Given the description of an element on the screen output the (x, y) to click on. 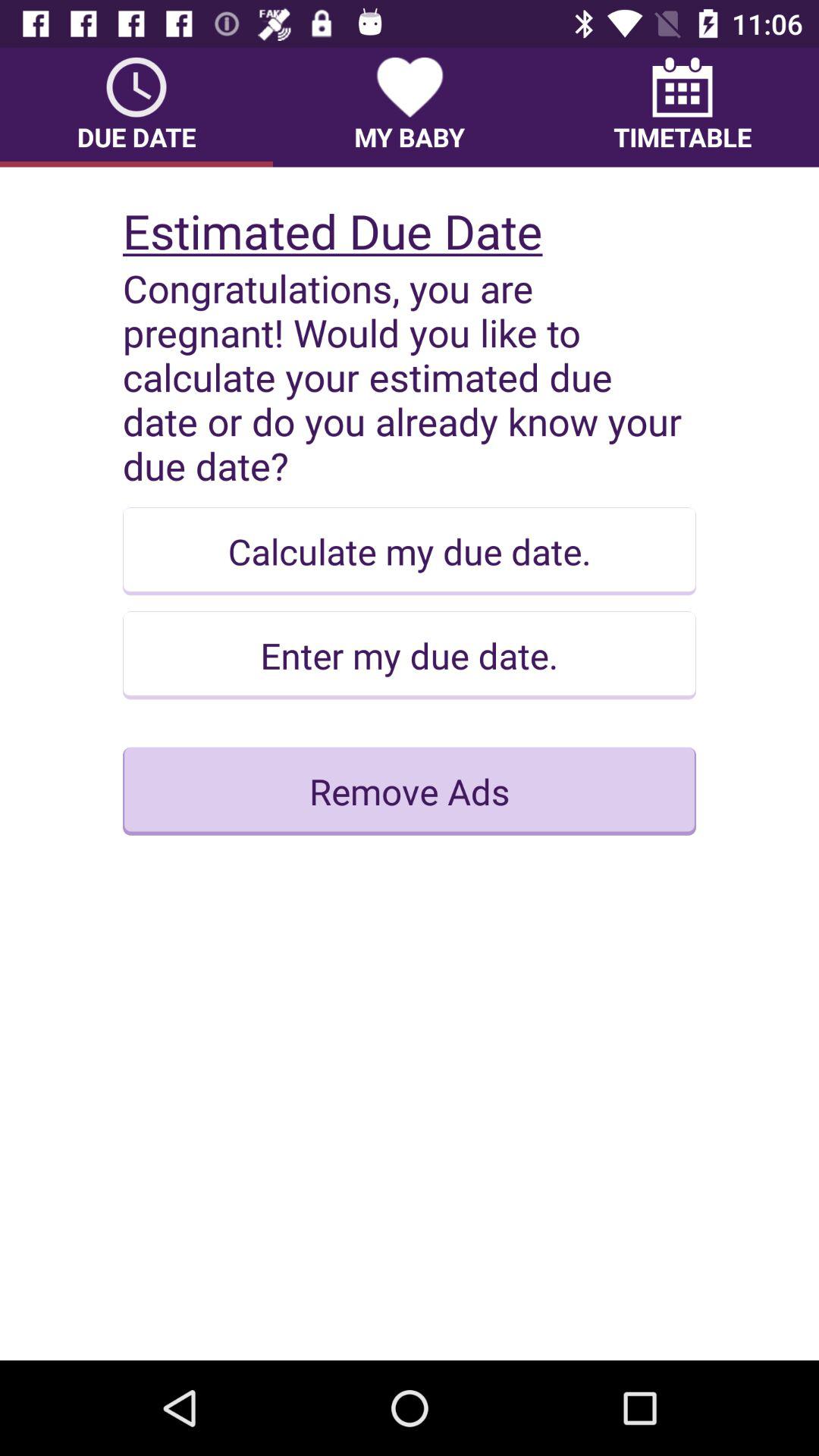
click the icon above the estimated due date (682, 107)
